Given the description of an element on the screen output the (x, y) to click on. 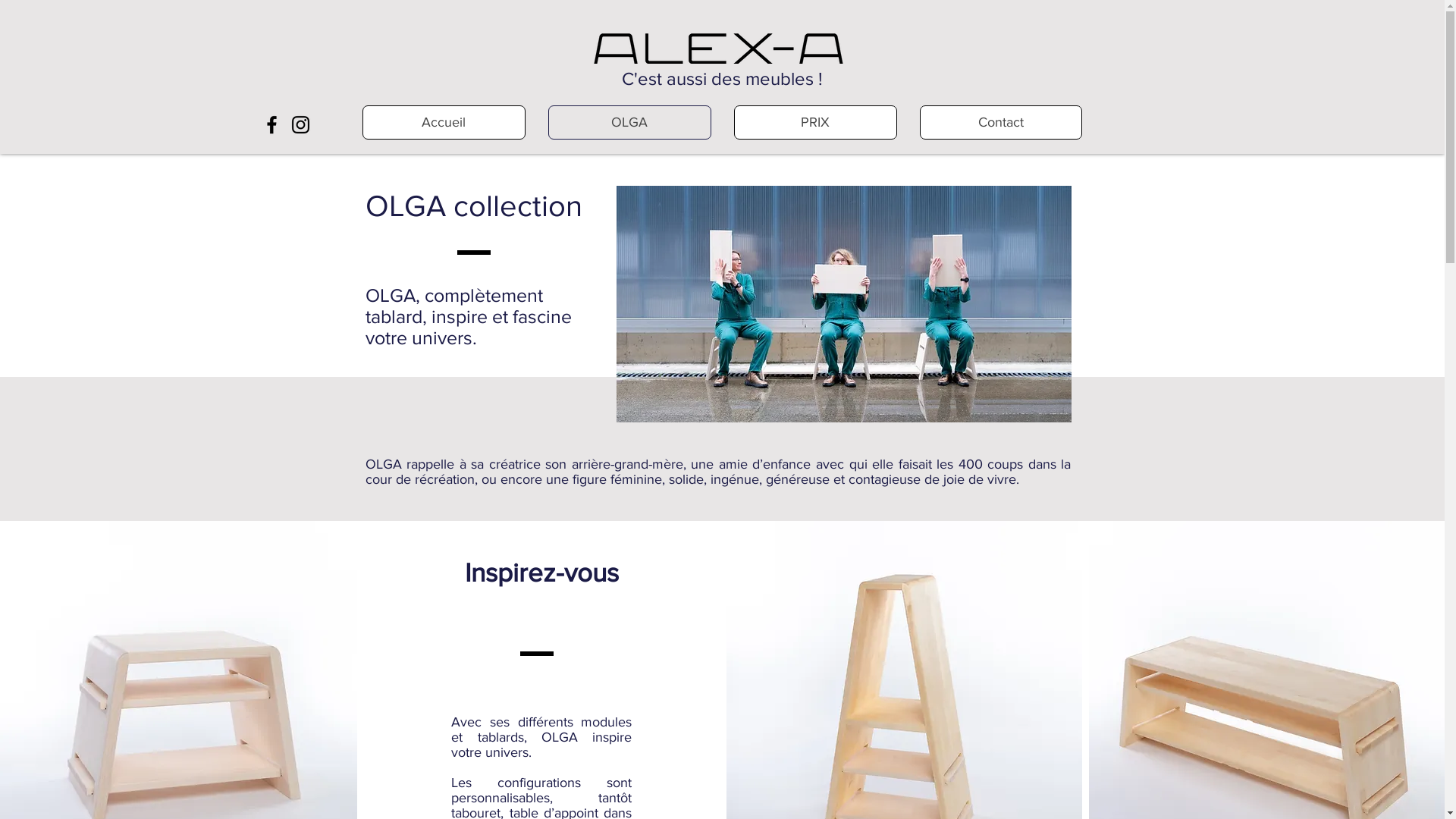
OLGA collection Element type: text (473, 205)
OLGA Element type: text (628, 122)
Contact Element type: text (1000, 122)
Accueil Element type: text (443, 122)
PRIX Element type: text (815, 122)
C'est aussi des meubles ! Element type: text (721, 78)
